Given the description of an element on the screen output the (x, y) to click on. 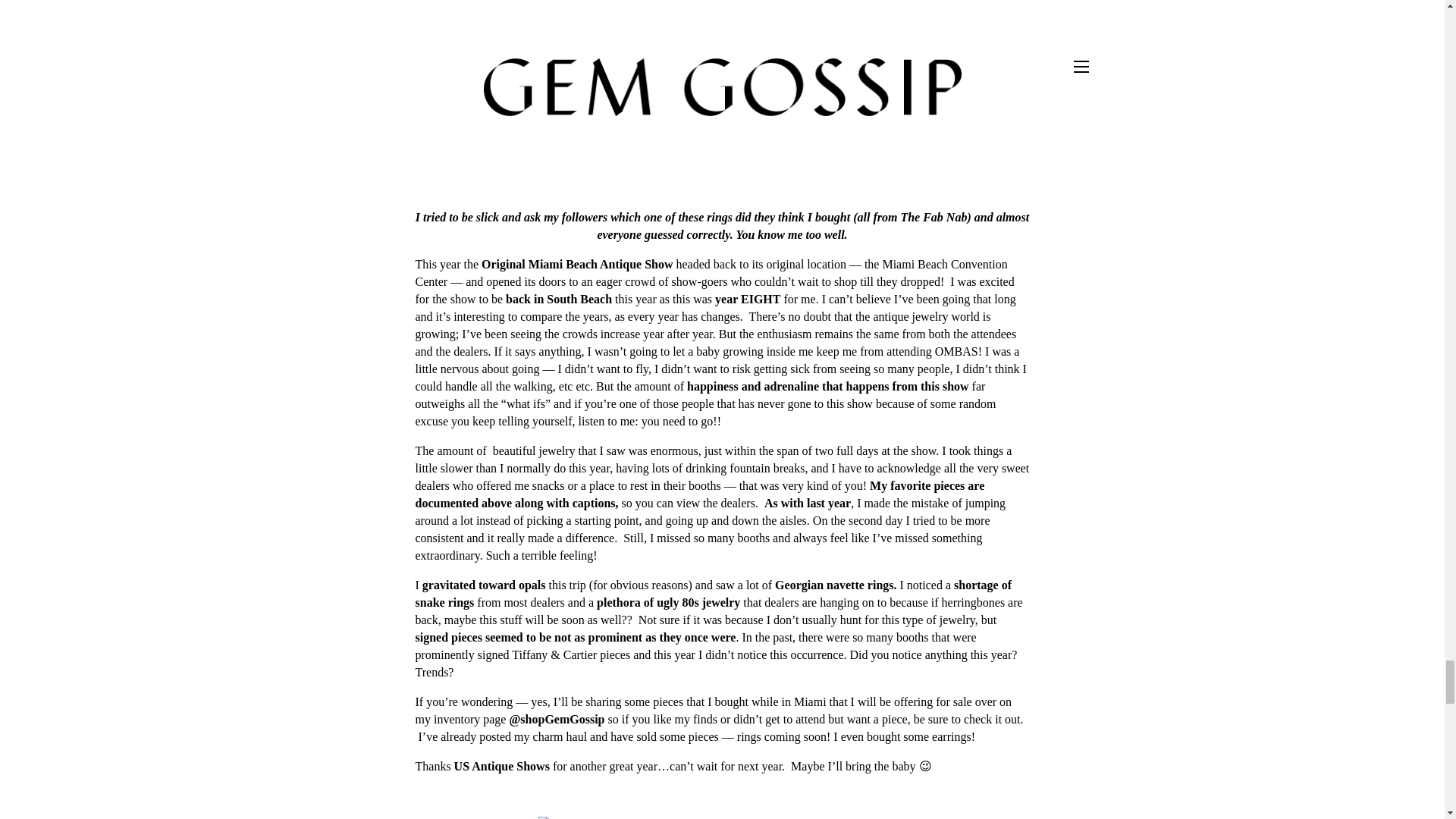
Original Miami Beach Antique Show (575, 264)
